Given the description of an element on the screen output the (x, y) to click on. 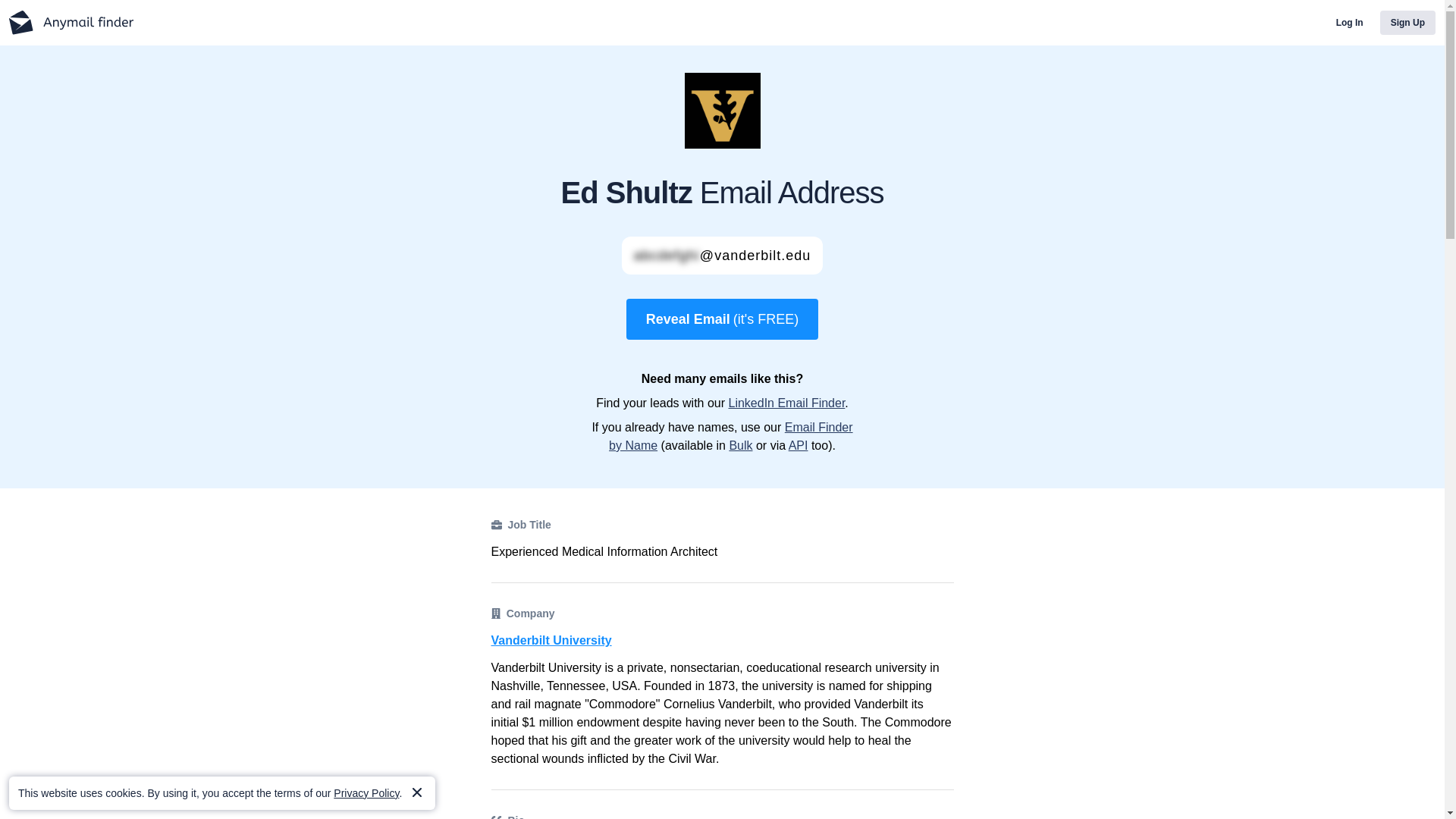
Bulk (740, 445)
LinkedIn Email Finder (786, 402)
API (798, 445)
Vanderbilt University (722, 640)
Sign Up (1407, 22)
Email Finder by Name (730, 436)
Log In (1349, 22)
